Given the description of an element on the screen output the (x, y) to click on. 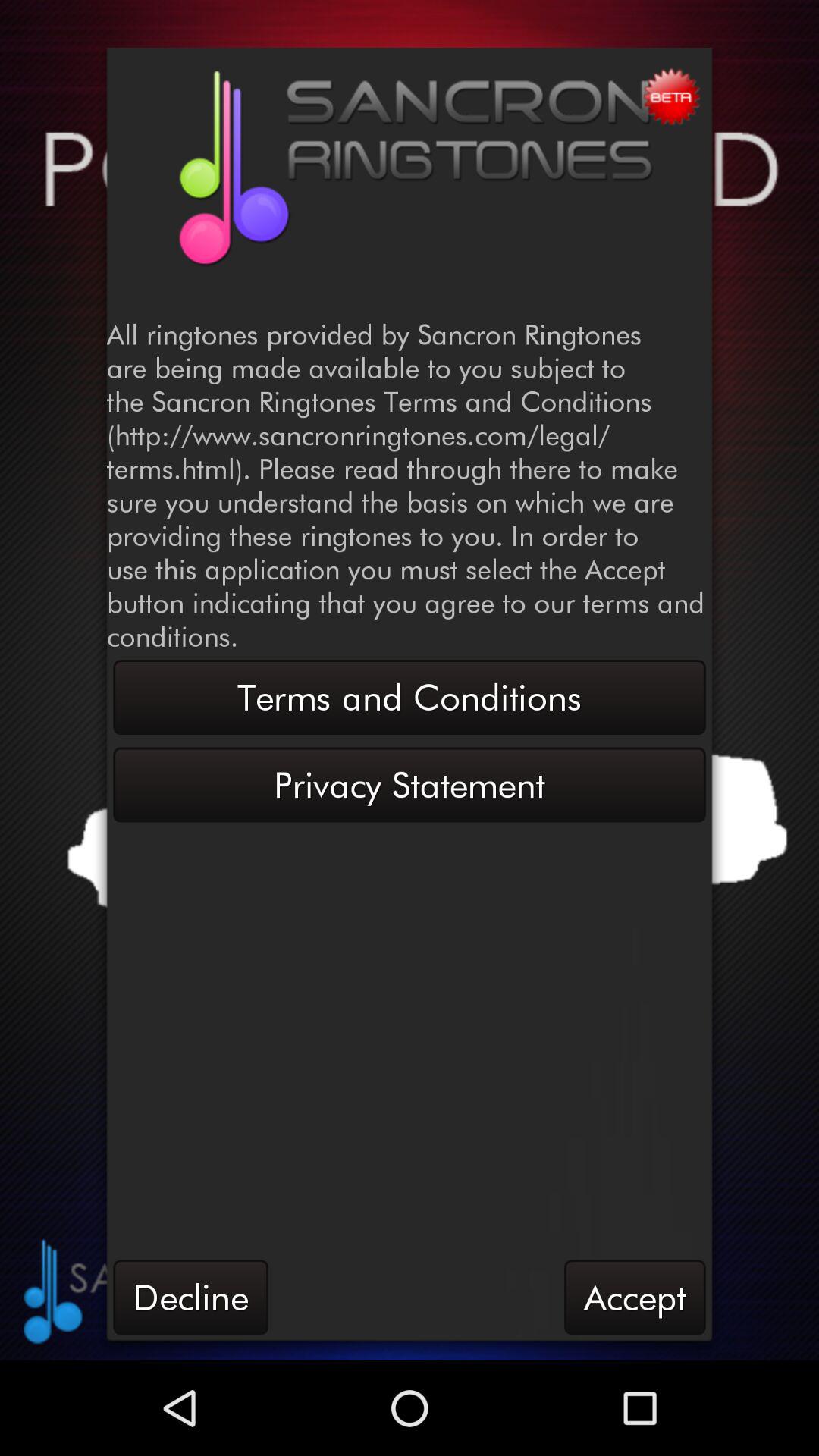
turn off button at the bottom left corner (190, 1296)
